Given the description of an element on the screen output the (x, y) to click on. 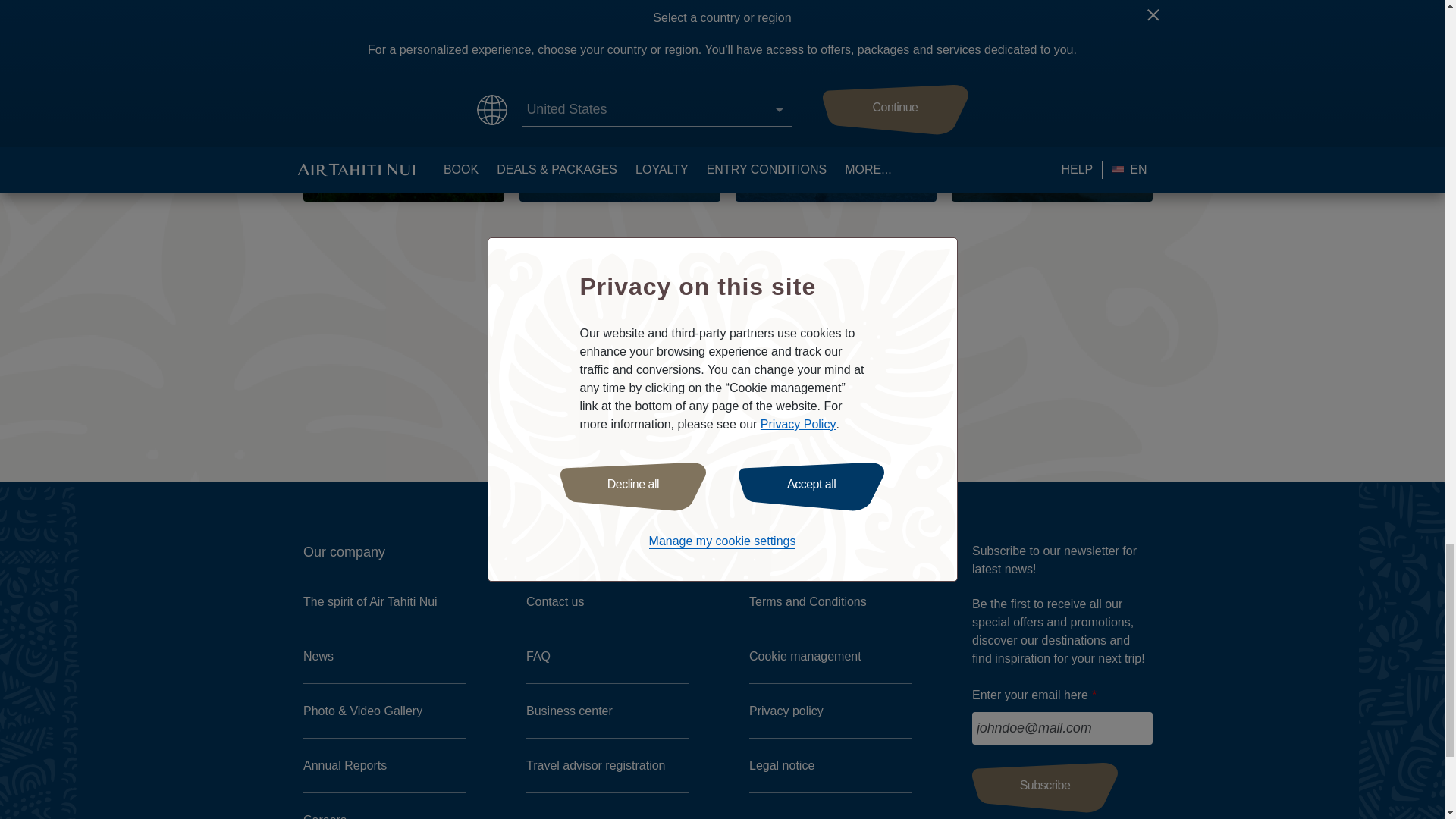
Subscribe (1045, 787)
